Given the description of an element on the screen output the (x, y) to click on. 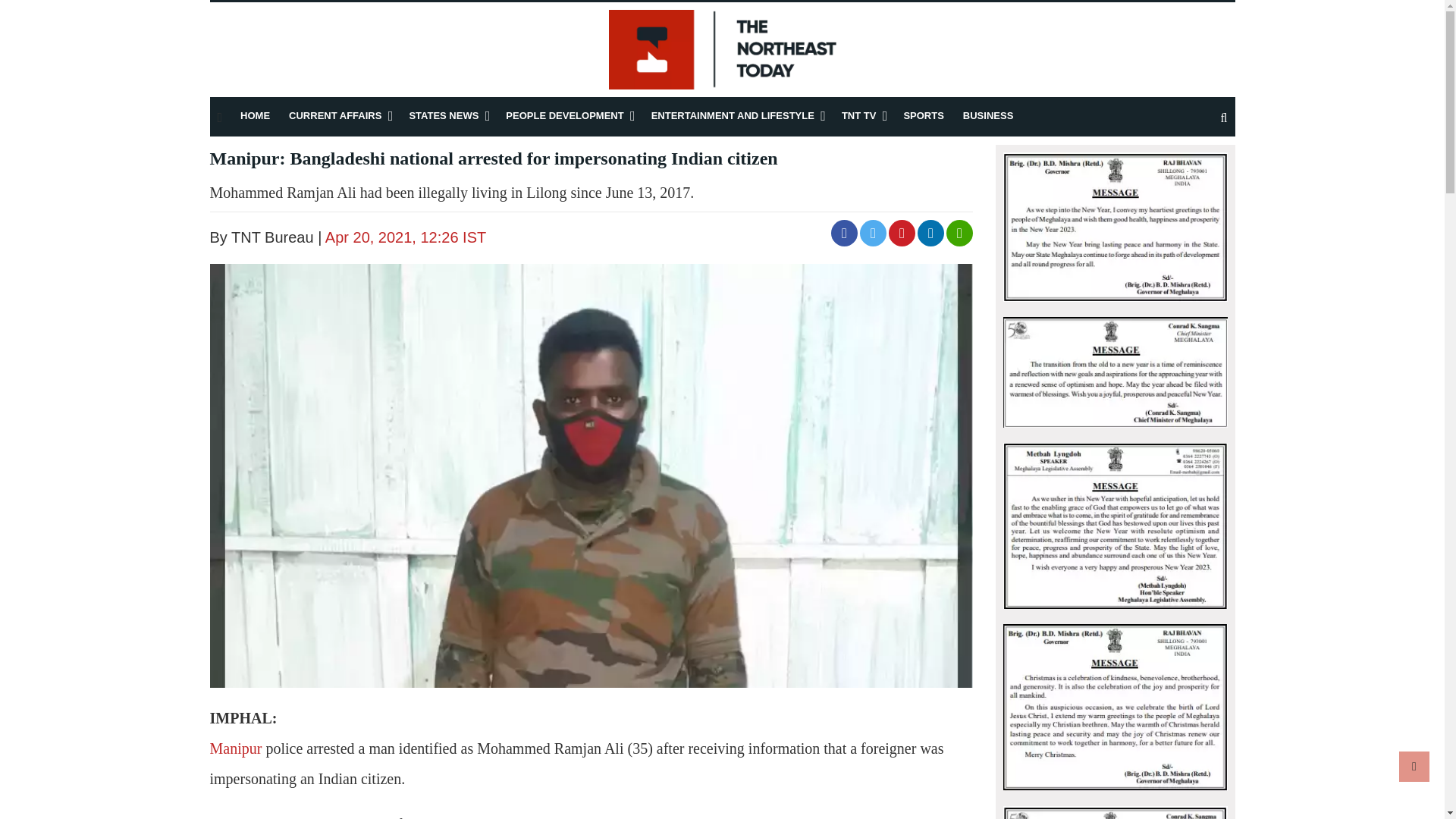
PEOPLE DEVELOPMENT (564, 115)
SPORTS (922, 115)
CURRENT AFFAIRS (334, 115)
STATES NEWS (444, 115)
HOME (254, 115)
ENTERTAINMENT AND LIFESTYLE (731, 115)
BUSINESS (987, 115)
TNT TV (858, 115)
